Given the description of an element on the screen output the (x, y) to click on. 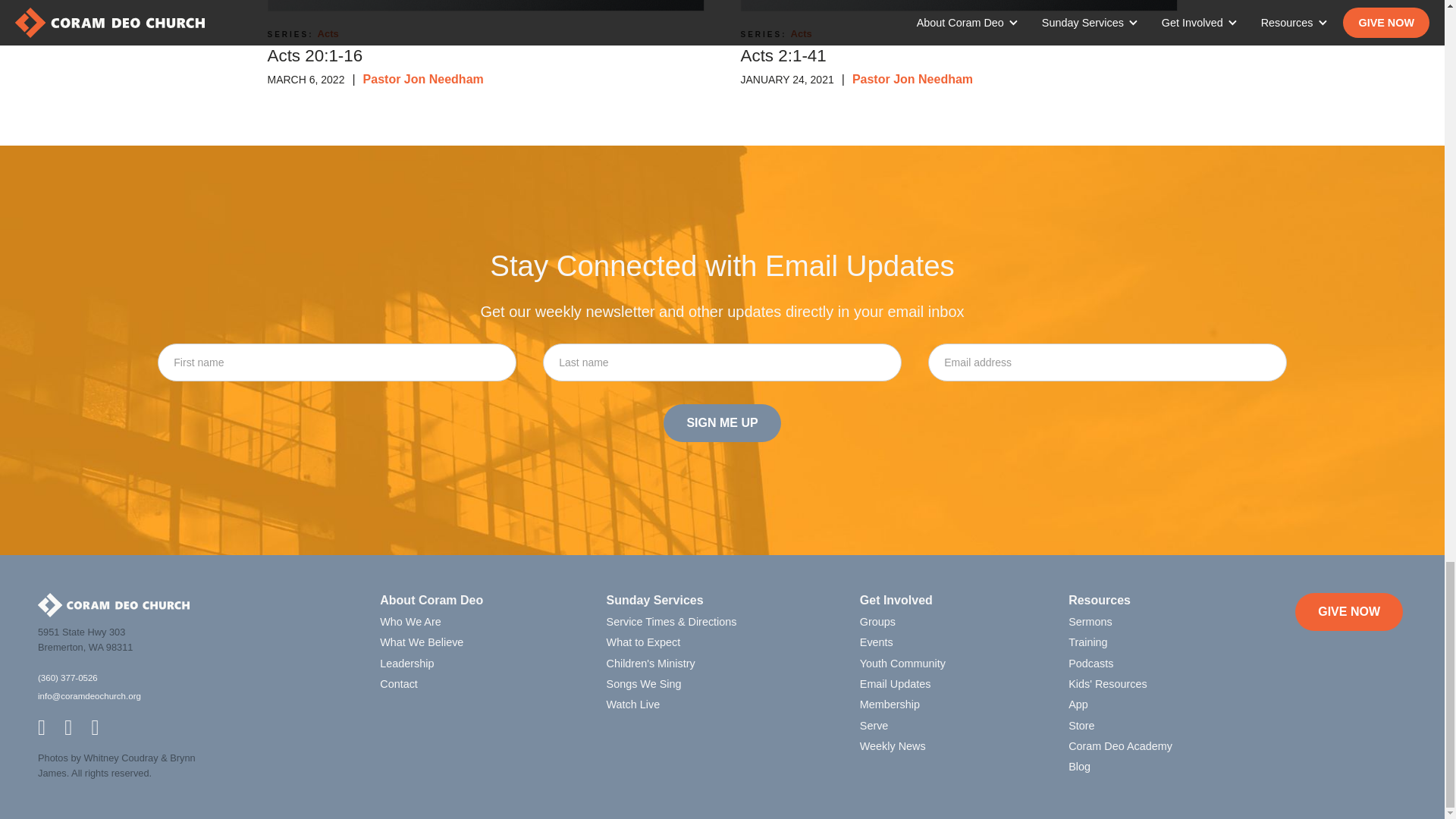
Sign Me Up (721, 423)
